Given the description of an element on the screen output the (x, y) to click on. 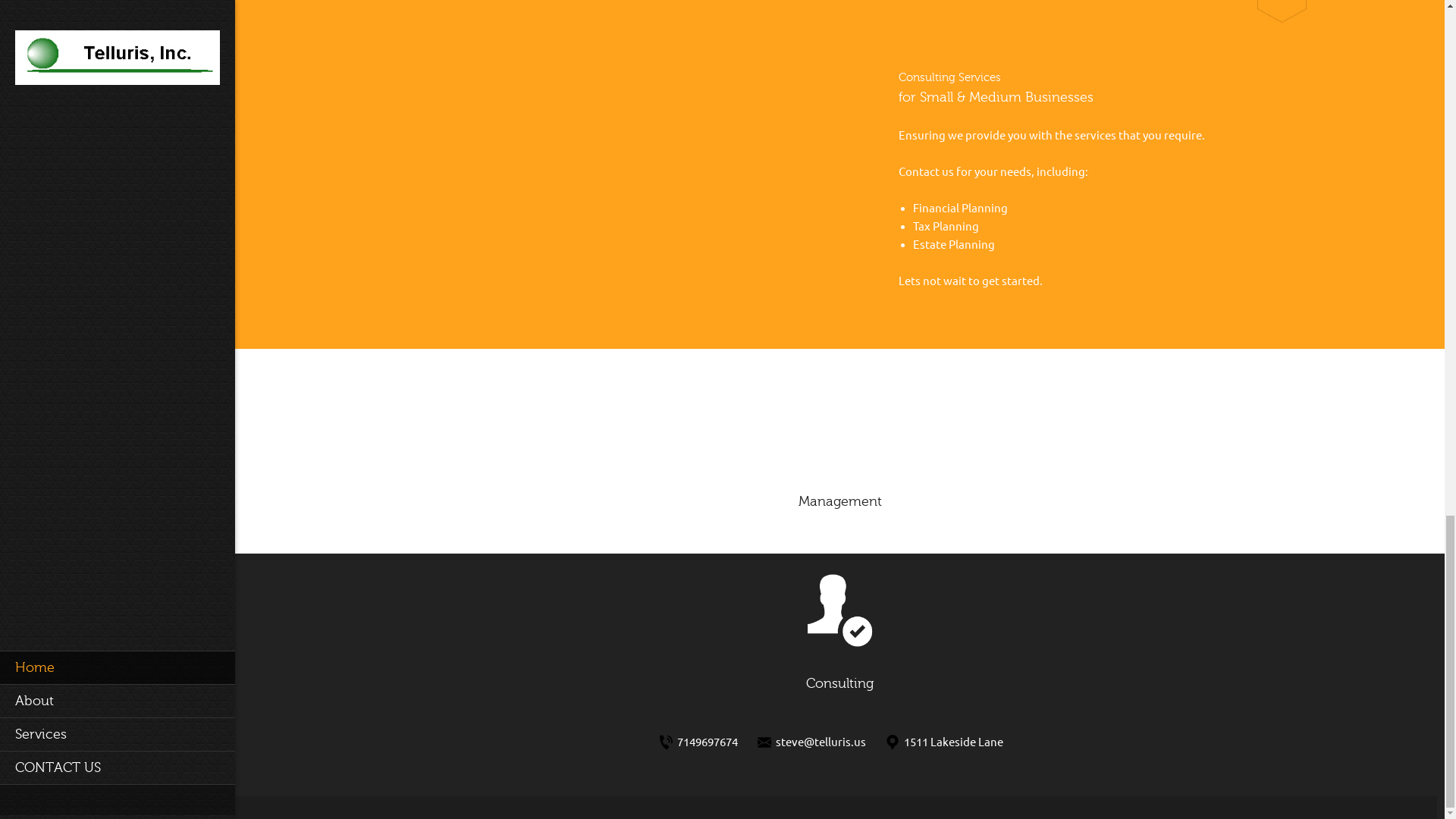
Email (816, 742)
Address (948, 742)
Arrow hitting a target icon (839, 428)
1511 Lakeside Lane (948, 742)
Contact us (925, 171)
7149697674 (702, 742)
Phone (702, 742)
Person and a checkmark icon (839, 610)
